Given the description of an element on the screen output the (x, y) to click on. 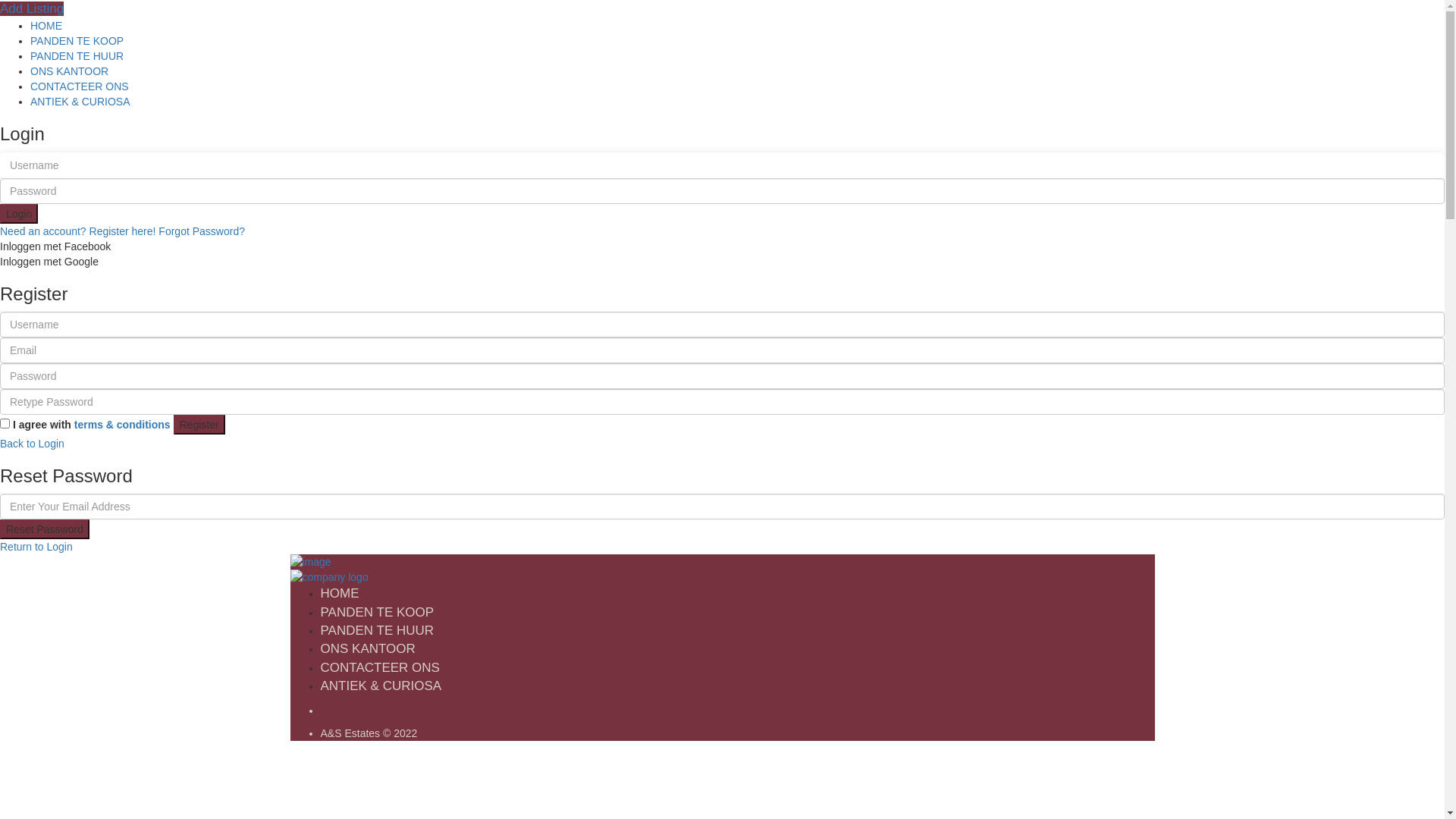
CONTACTEER ONS Element type: text (379, 667)
Reset Password Element type: text (44, 529)
ONS KANTOOR Element type: text (367, 648)
PANDEN TE HUUR Element type: text (76, 56)
Login Element type: text (18, 213)
HOME Element type: text (46, 25)
Forgot Password? Element type: text (201, 231)
Register Element type: text (198, 424)
Need an account? Register here! Element type: text (77, 231)
Add Listing Element type: text (31, 8)
Return to Login Element type: text (36, 546)
PANDEN TE KOOP Element type: text (76, 40)
ANTIEK & CURIOSA Element type: text (79, 101)
PANDEN TE HUUR Element type: text (376, 630)
ANTIEK & CURIOSA Element type: text (380, 685)
CONTACTEER ONS Element type: text (79, 86)
terms & conditions Element type: text (122, 424)
ONS KANTOOR Element type: text (69, 71)
PANDEN TE KOOP Element type: text (376, 612)
Back to Login Element type: text (32, 443)
HOME Element type: text (339, 593)
